Given the description of an element on the screen output the (x, y) to click on. 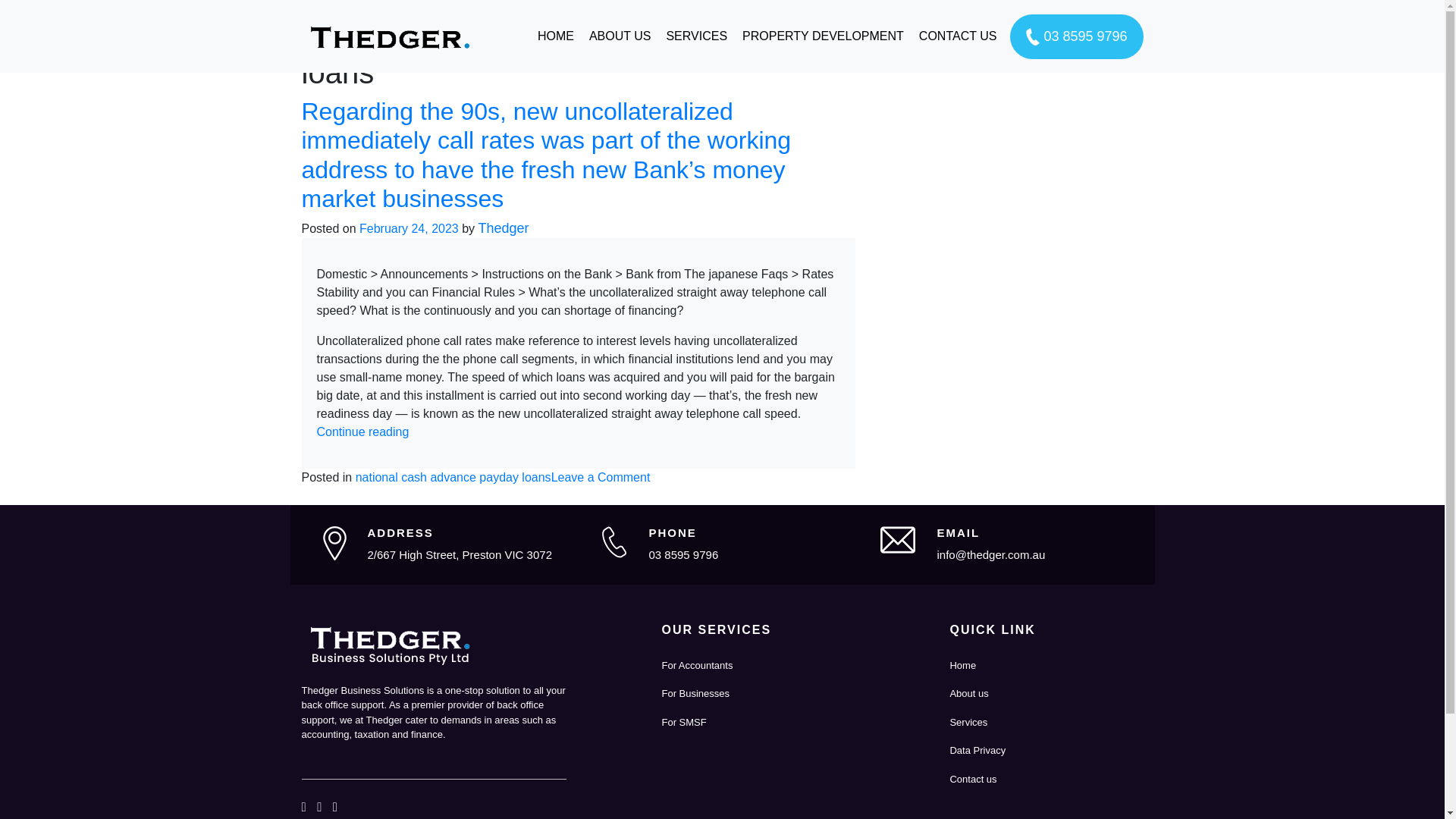
February 24, 2023 (408, 228)
national cash advance payday loans (453, 477)
Thedger (504, 227)
PROPERTY DEVELOPMENT (823, 36)
SERVICES (696, 36)
CONTACT US (957, 36)
03 8595 9796 (682, 554)
ABOUT US (619, 36)
03 8595 9796 (1076, 35)
HOME (554, 36)
